Given the description of an element on the screen output the (x, y) to click on. 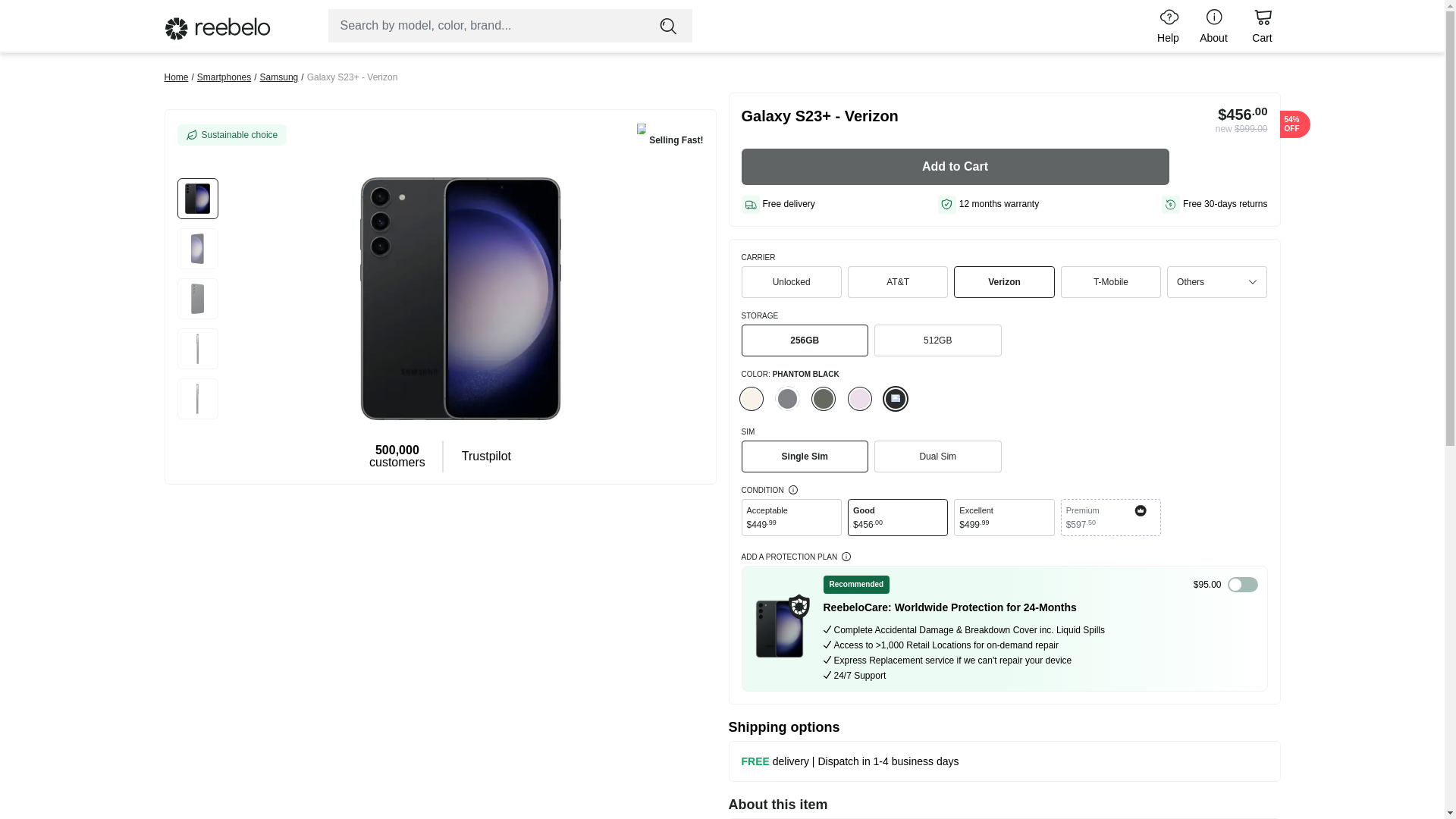
Samsung (279, 77)
Others (1216, 281)
256GB (805, 340)
About (1213, 25)
Single Sim (805, 456)
T-Mobile (1110, 282)
Dual Sim (938, 456)
Smartphones (223, 77)
Help (1164, 25)
512GB (938, 340)
